Given the description of an element on the screen output the (x, y) to click on. 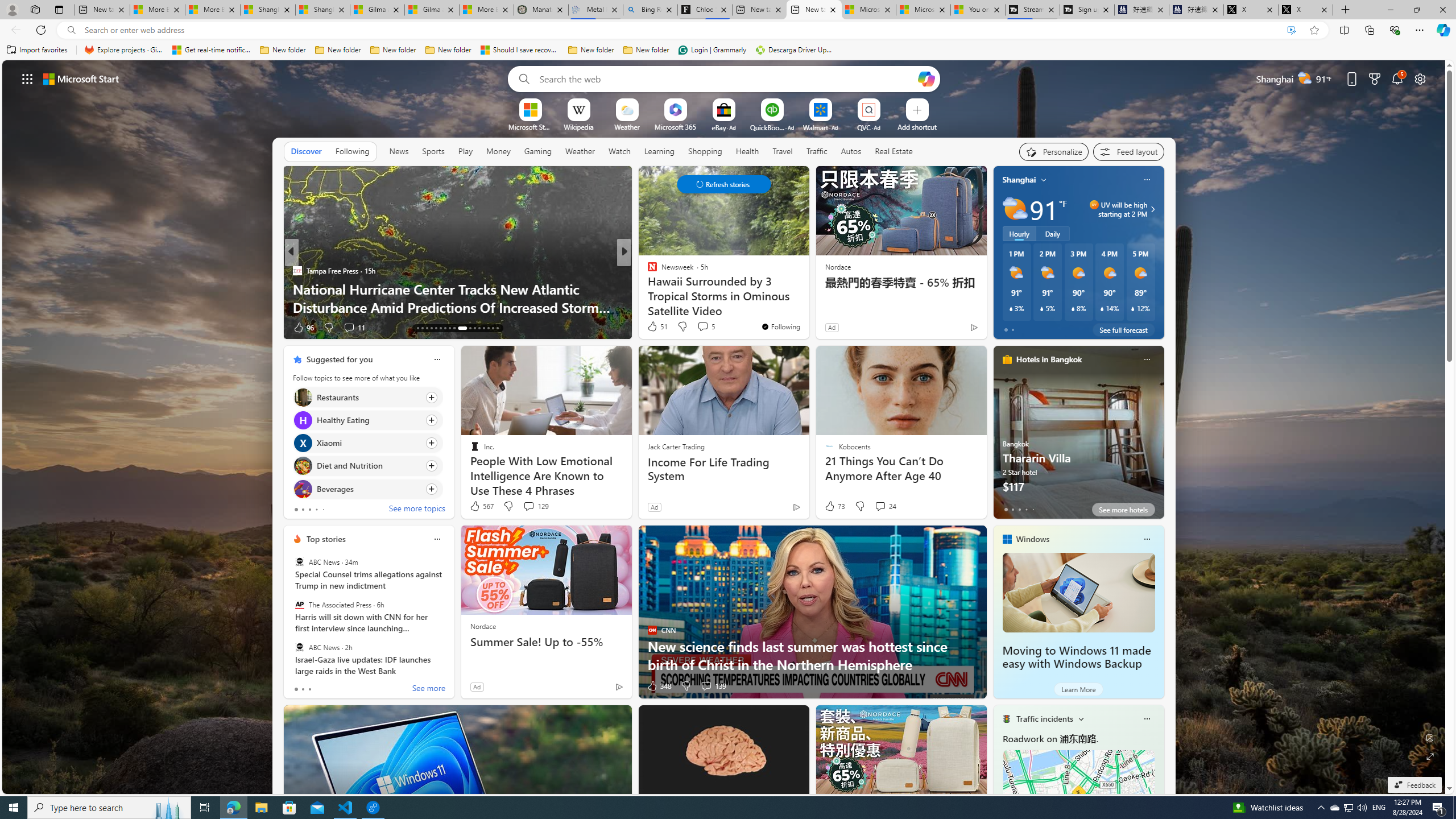
Jack Carter Trading (675, 446)
Page settings (1420, 78)
View comments 3 Comment (698, 327)
Planning to Organize (647, 270)
